Given the description of an element on the screen output the (x, y) to click on. 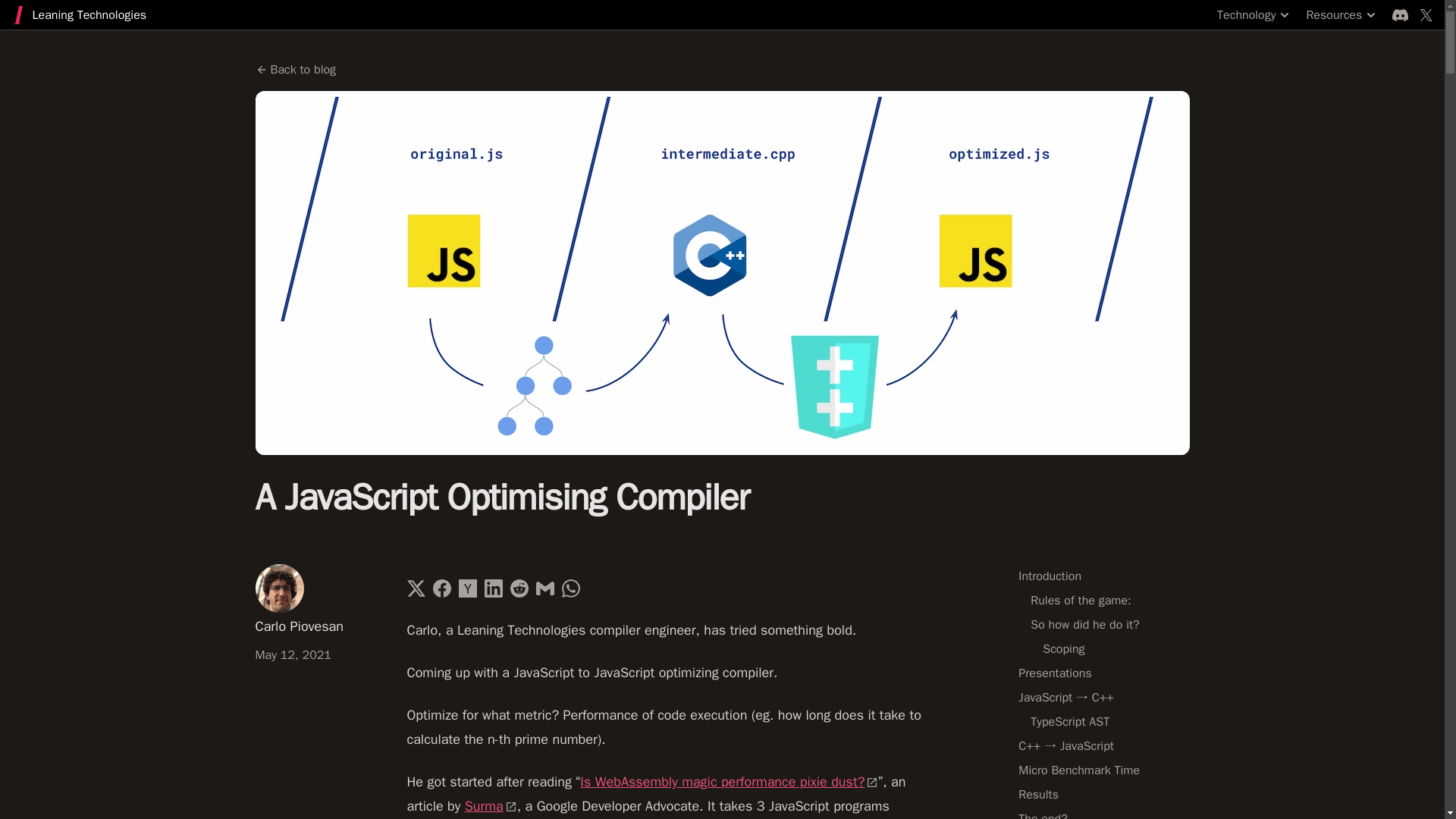
Carlo Piovesan (314, 598)
Leaning Technologies (79, 14)
Is WebAssembly magic performance pixie dust? (728, 781)
Surma (490, 805)
Back to blog (295, 69)
Technology (1255, 14)
X (1426, 15)
Resources (1343, 14)
